Given the description of an element on the screen output the (x, y) to click on. 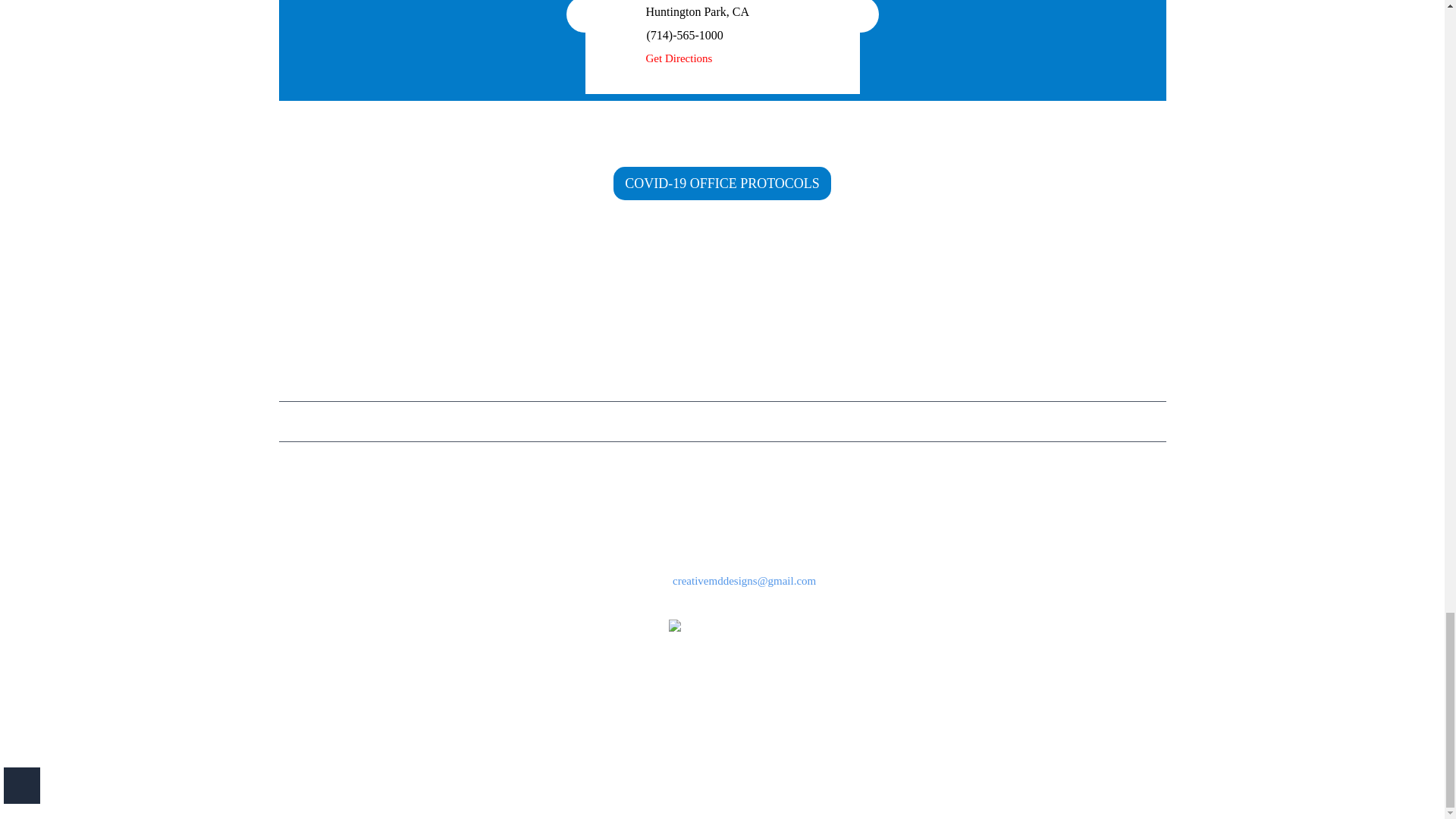
Previous Slide (584, 16)
Next Slide (859, 16)
